Given the description of an element on the screen output the (x, y) to click on. 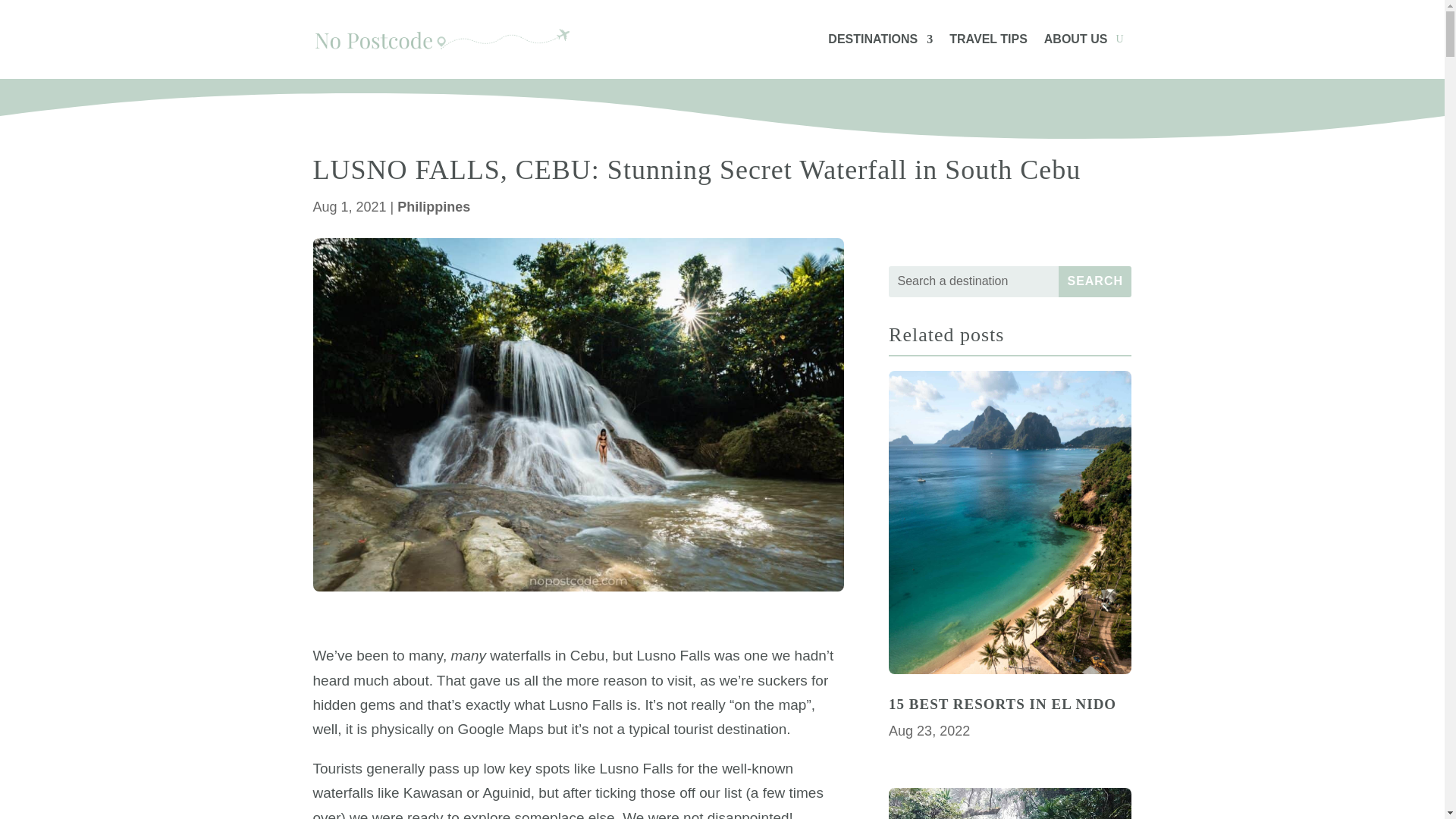
TRAVEL TIPS (988, 39)
ABOUT US (1075, 39)
DESTINATIONS (880, 39)
Search (1094, 281)
Search (1094, 281)
Philippines (433, 206)
